Given the description of an element on the screen output the (x, y) to click on. 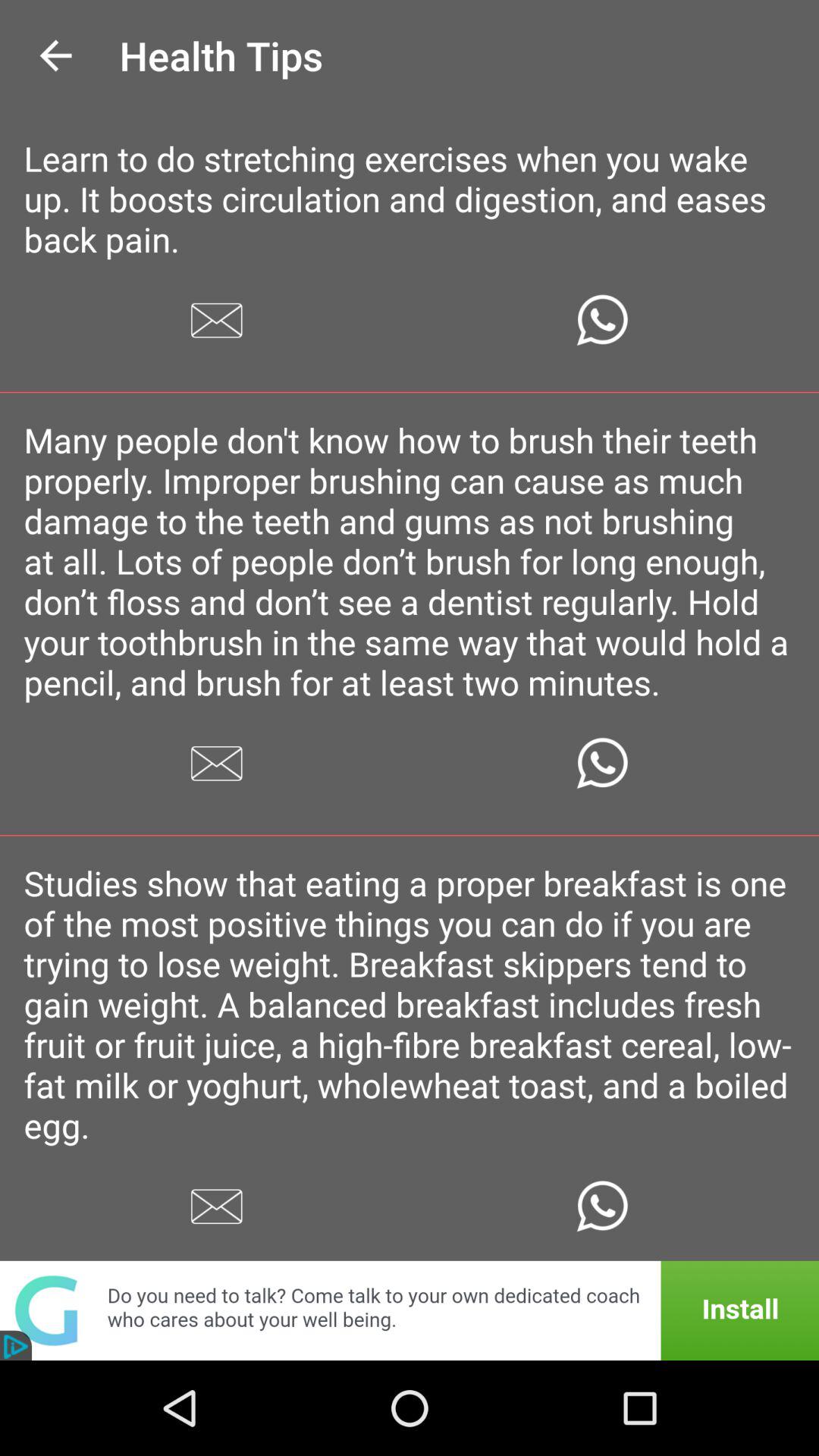
scroll until the garlic onions spring icon (409, 1331)
